Given the description of an element on the screen output the (x, y) to click on. 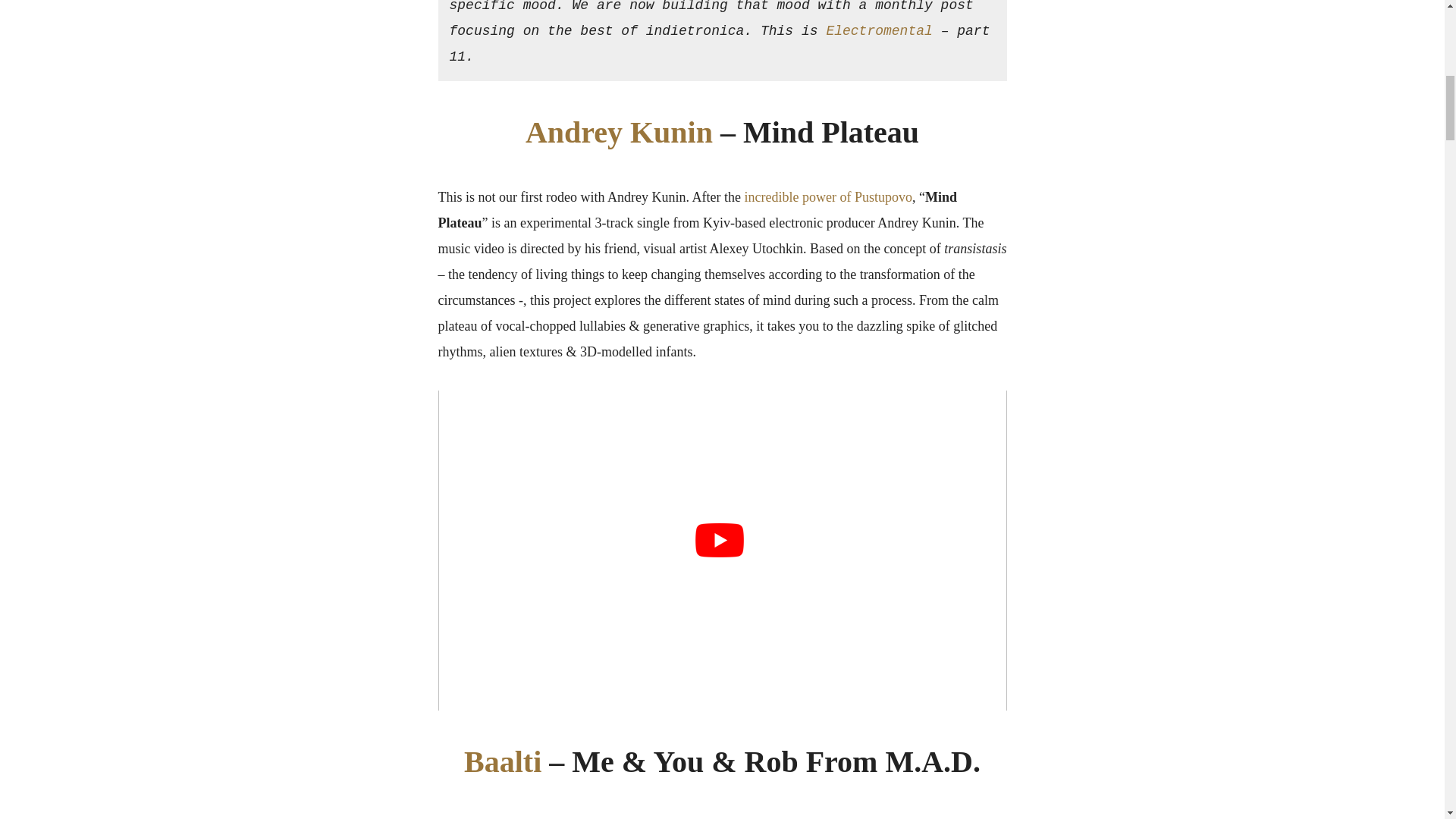
Baalti (506, 761)
Electromental (878, 30)
Andrey Kunin (619, 132)
incredible power of Pustupovo (827, 196)
